Given the description of an element on the screen output the (x, y) to click on. 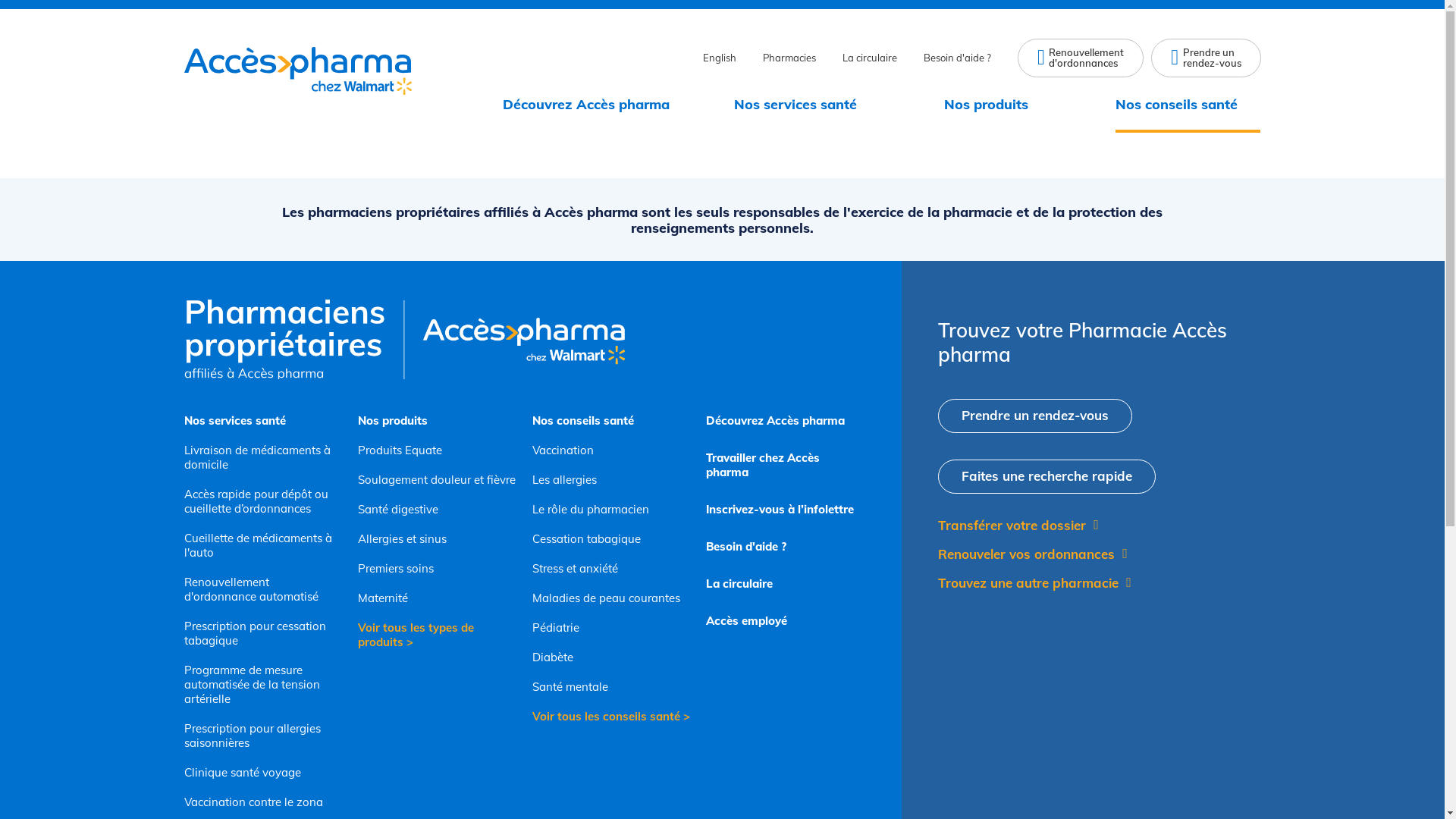
Renouvellement
d'ordonnances Element type: text (1080, 57)
Premiers soins Element type: text (437, 568)
Trouvez une autre pharmacie Element type: text (1034, 582)
Pharmacies Element type: text (788, 57)
Maladies de peau courantes Element type: text (611, 597)
Nos produits Element type: text (437, 420)
Cessation tabagique Element type: text (611, 538)
English Element type: text (719, 57)
Produits Equate Element type: text (437, 449)
Vaccination Element type: text (611, 449)
Renouveler vos ordonnances Element type: text (1032, 553)
Voir tous les types de produits > Element type: text (437, 634)
Prescription pour cessation tabagique Element type: text (262, 632)
La circulaire Element type: text (869, 57)
Prendre un
rendez-vous Element type: text (1205, 57)
Faites une recherche rapide Element type: text (1046, 476)
Besoin d'aide ? Element type: text (957, 57)
Prendre un rendez-vous Element type: text (1035, 415)
Vaccination contre le zona Element type: text (262, 801)
Nos produits Element type: text (997, 104)
La circulaire Element type: text (785, 583)
Les allergies Element type: text (611, 479)
Allergies et sinus Element type: text (437, 538)
Besoin d'aide ? Element type: text (785, 546)
